Given the description of an element on the screen output the (x, y) to click on. 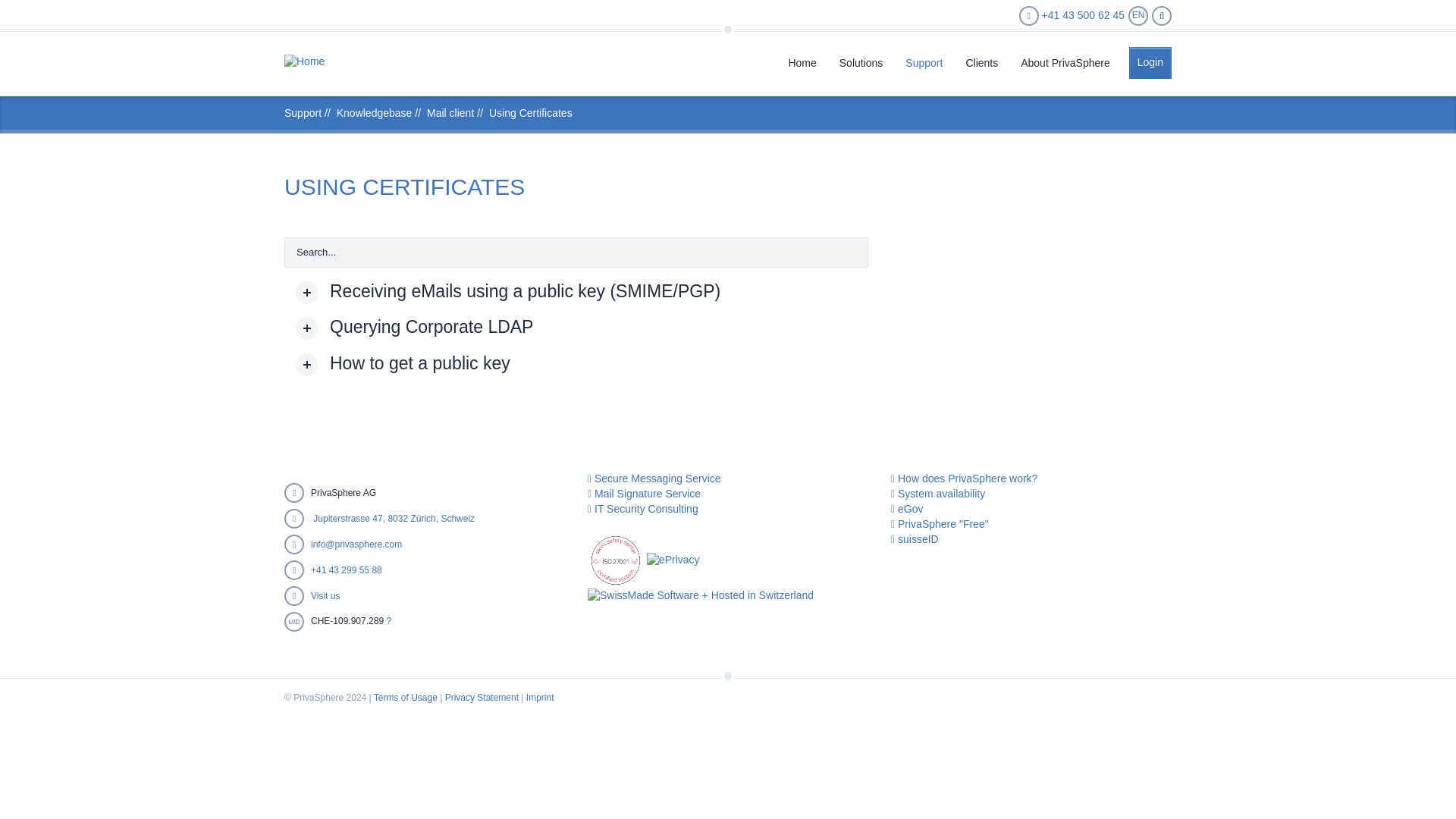
Support (923, 61)
Home (303, 61)
About PrivaSphere (1065, 61)
EN (1138, 15)
Solutions (861, 61)
Clients (981, 61)
